Given the description of an element on the screen output the (x, y) to click on. 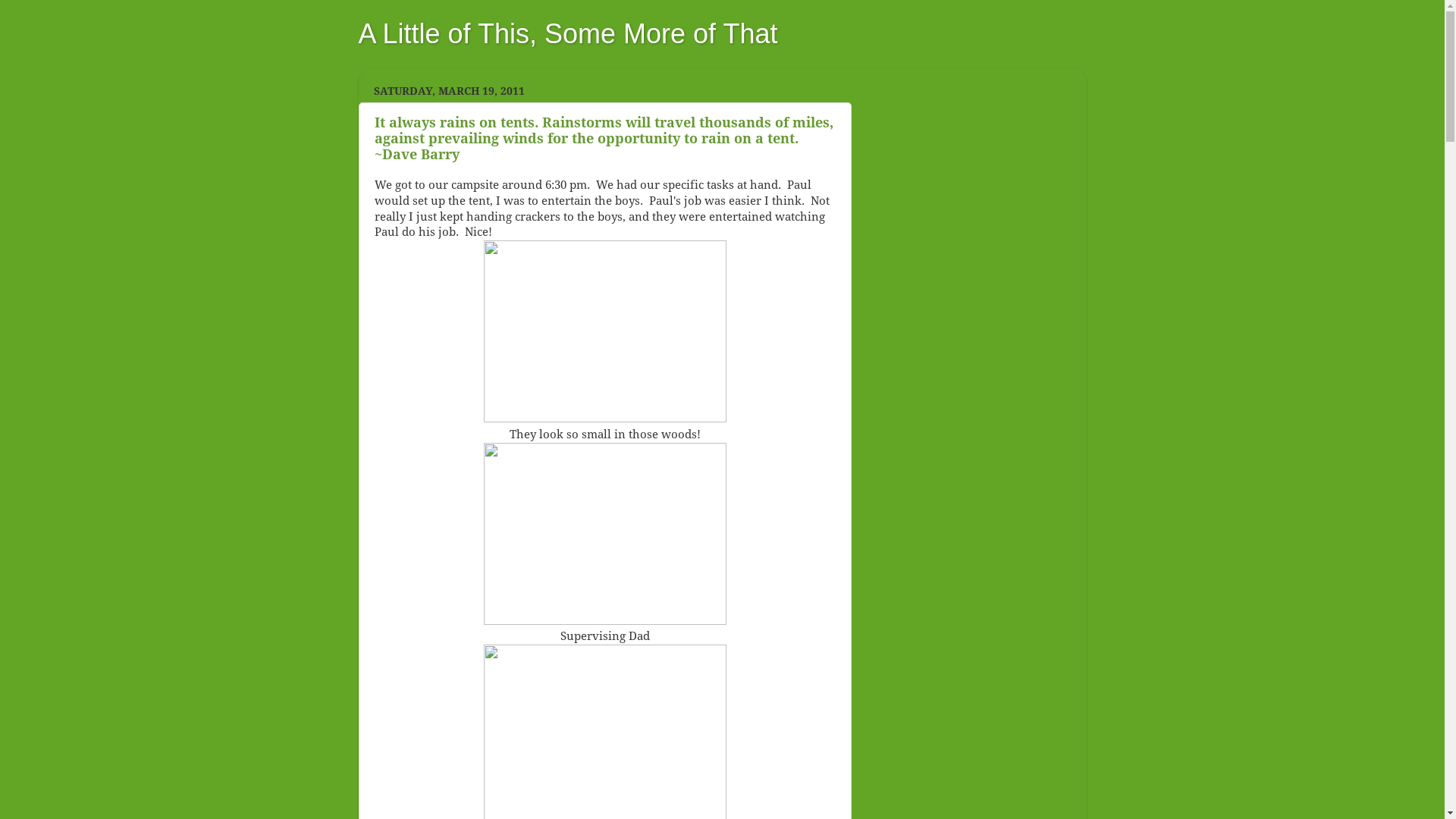
A Little of This, Some More of That Element type: text (567, 33)
